Given the description of an element on the screen output the (x, y) to click on. 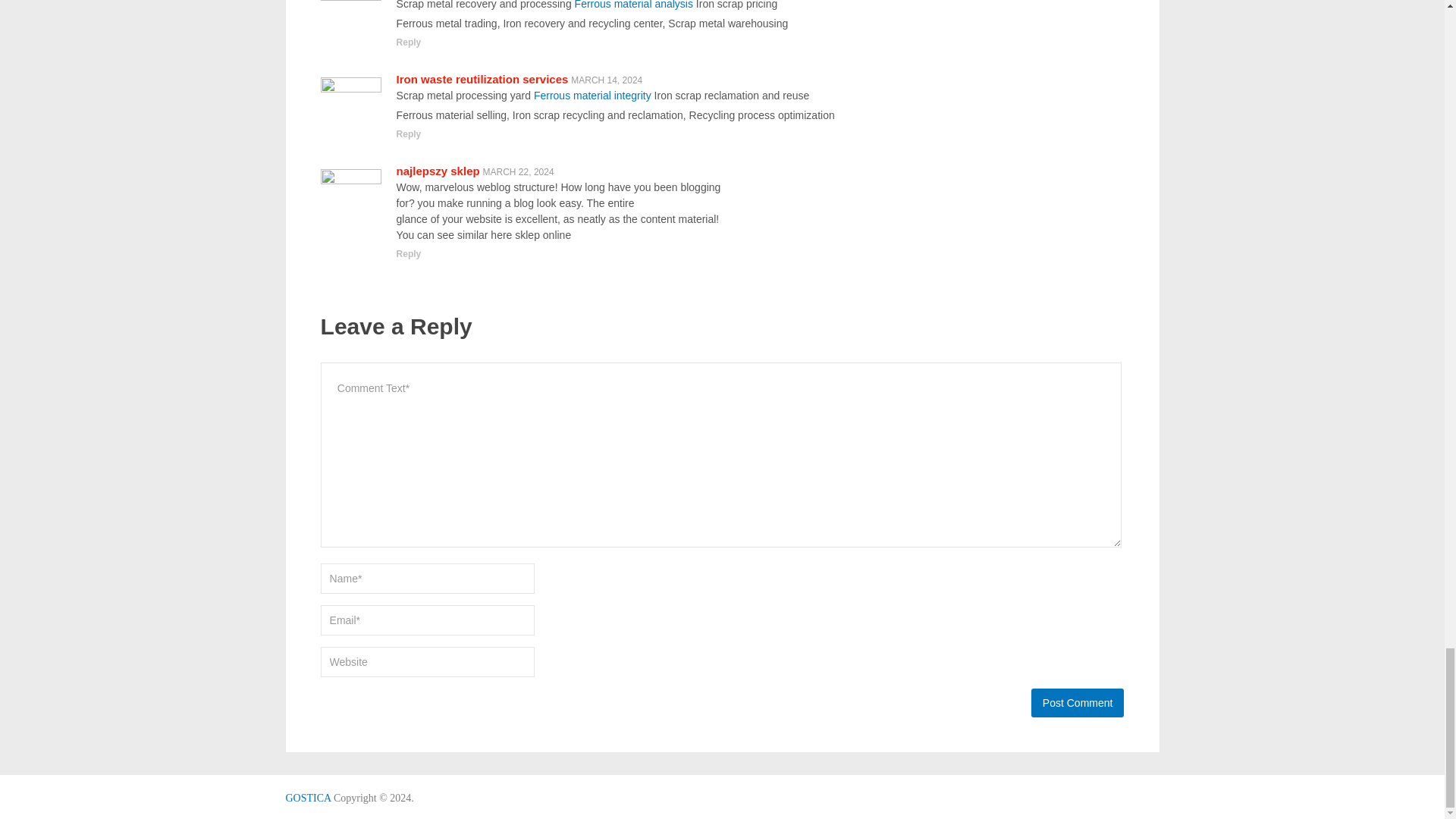
Ferrous material integrity (592, 95)
Ferrous material analysis (634, 4)
Post Comment (1077, 702)
 The Spiritual Path (307, 797)
